Given the description of an element on the screen output the (x, y) to click on. 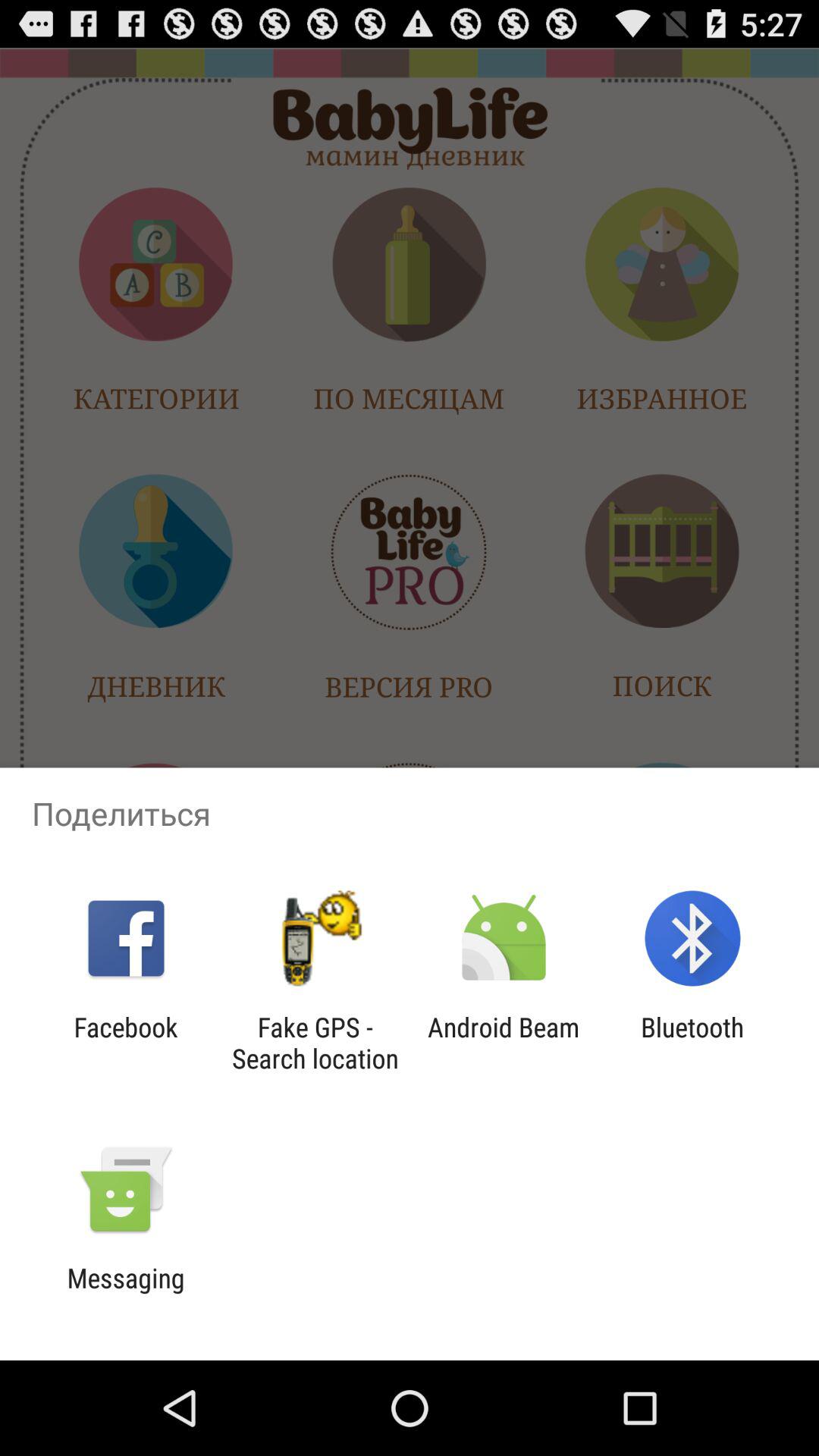
tap icon to the right of android beam item (691, 1042)
